Given the description of an element on the screen output the (x, y) to click on. 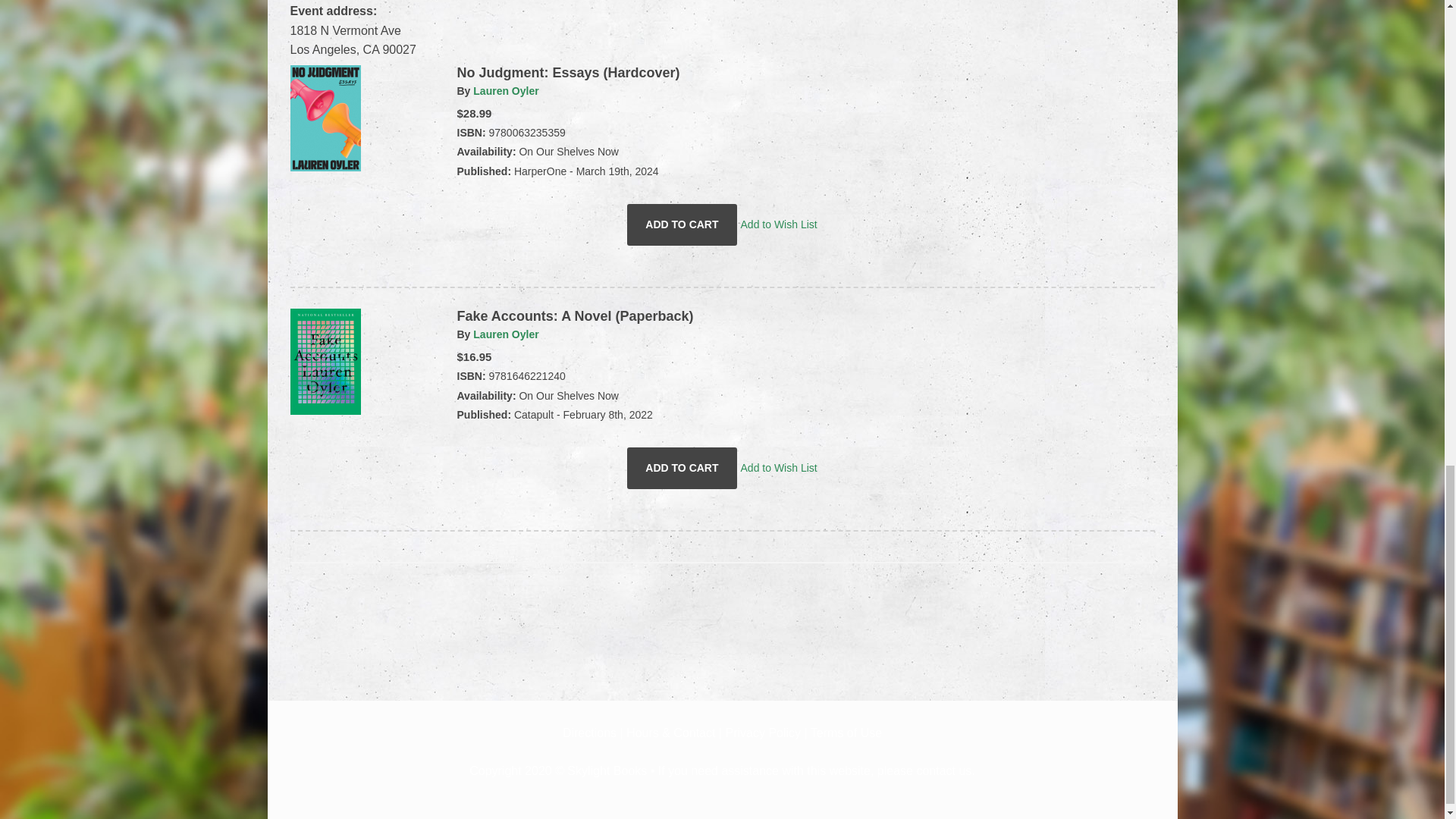
Add to Cart (681, 224)
Add to Cart (681, 468)
